Given the description of an element on the screen output the (x, y) to click on. 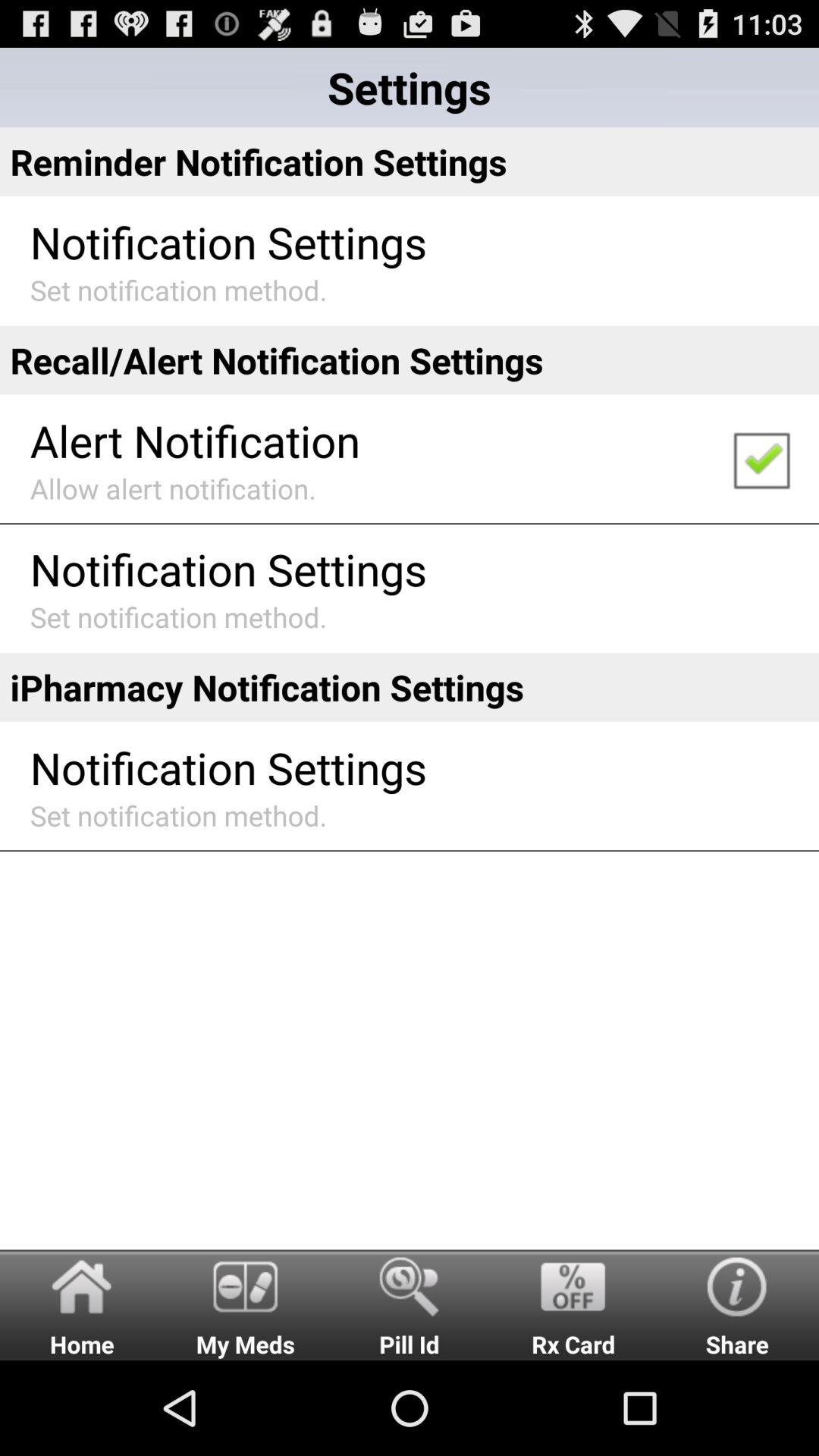
swipe to the rx card item (573, 1304)
